Given the description of an element on the screen output the (x, y) to click on. 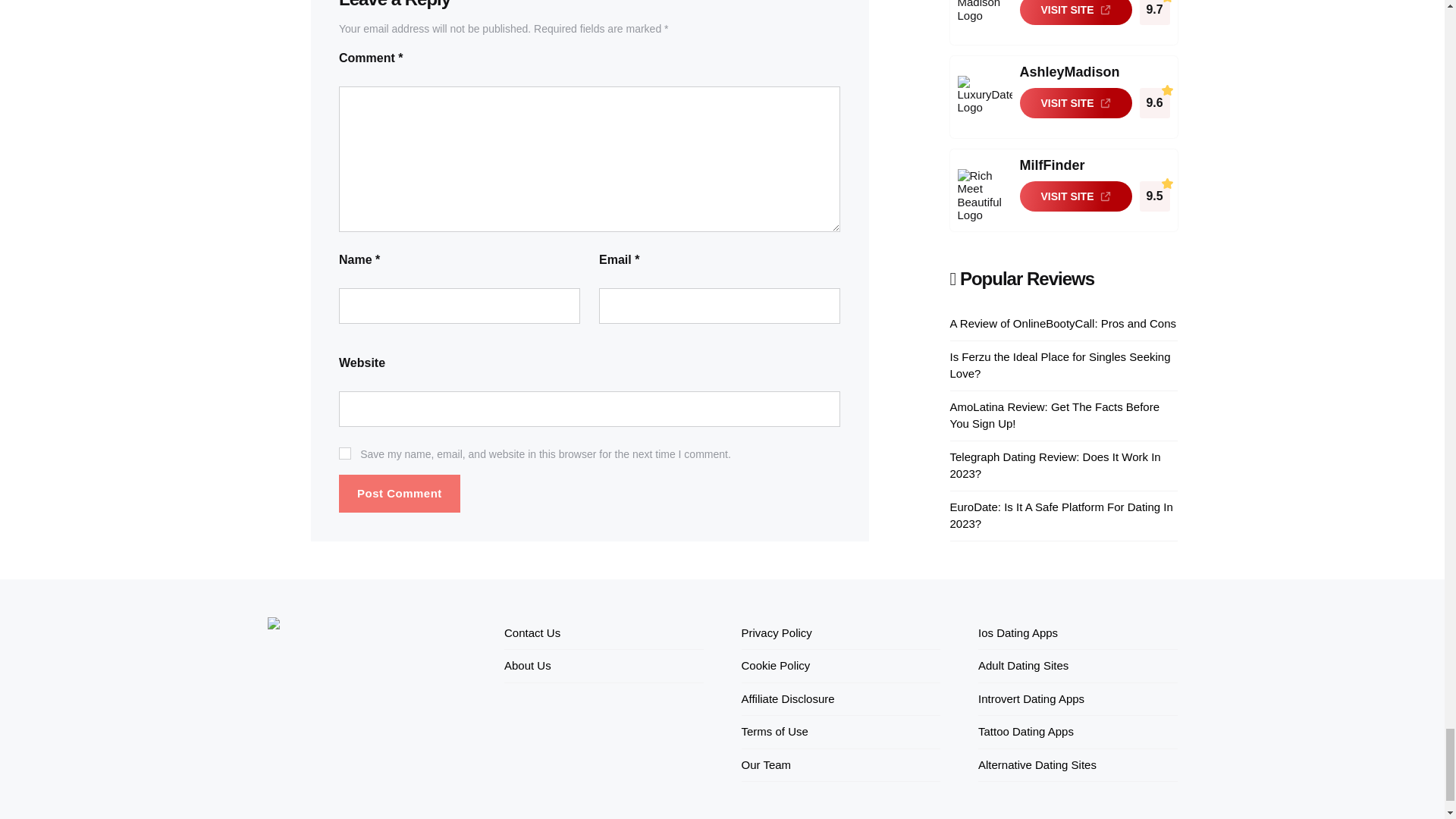
Post Comment (399, 494)
yes (344, 453)
